Given the description of an element on the screen output the (x, y) to click on. 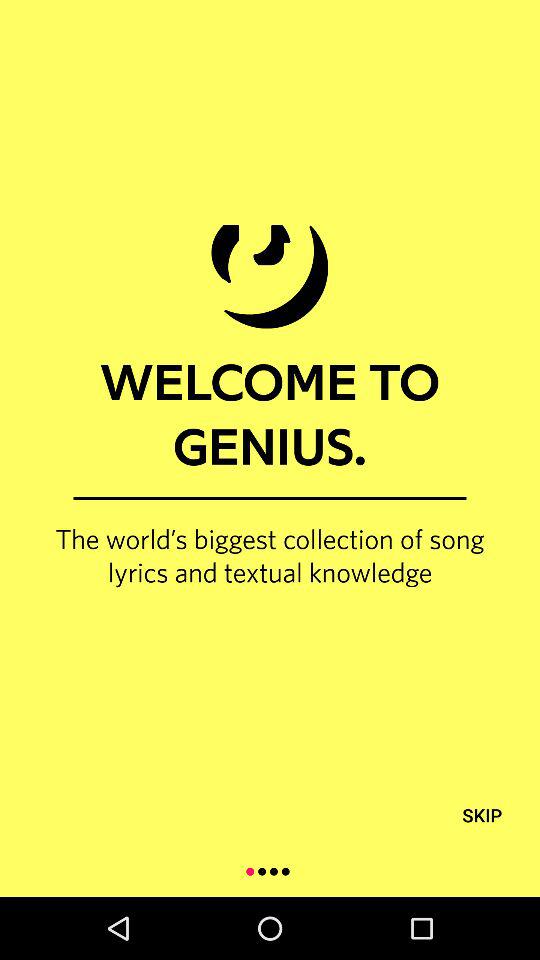
launch icon below the world s (482, 814)
